Given the description of an element on the screen output the (x, y) to click on. 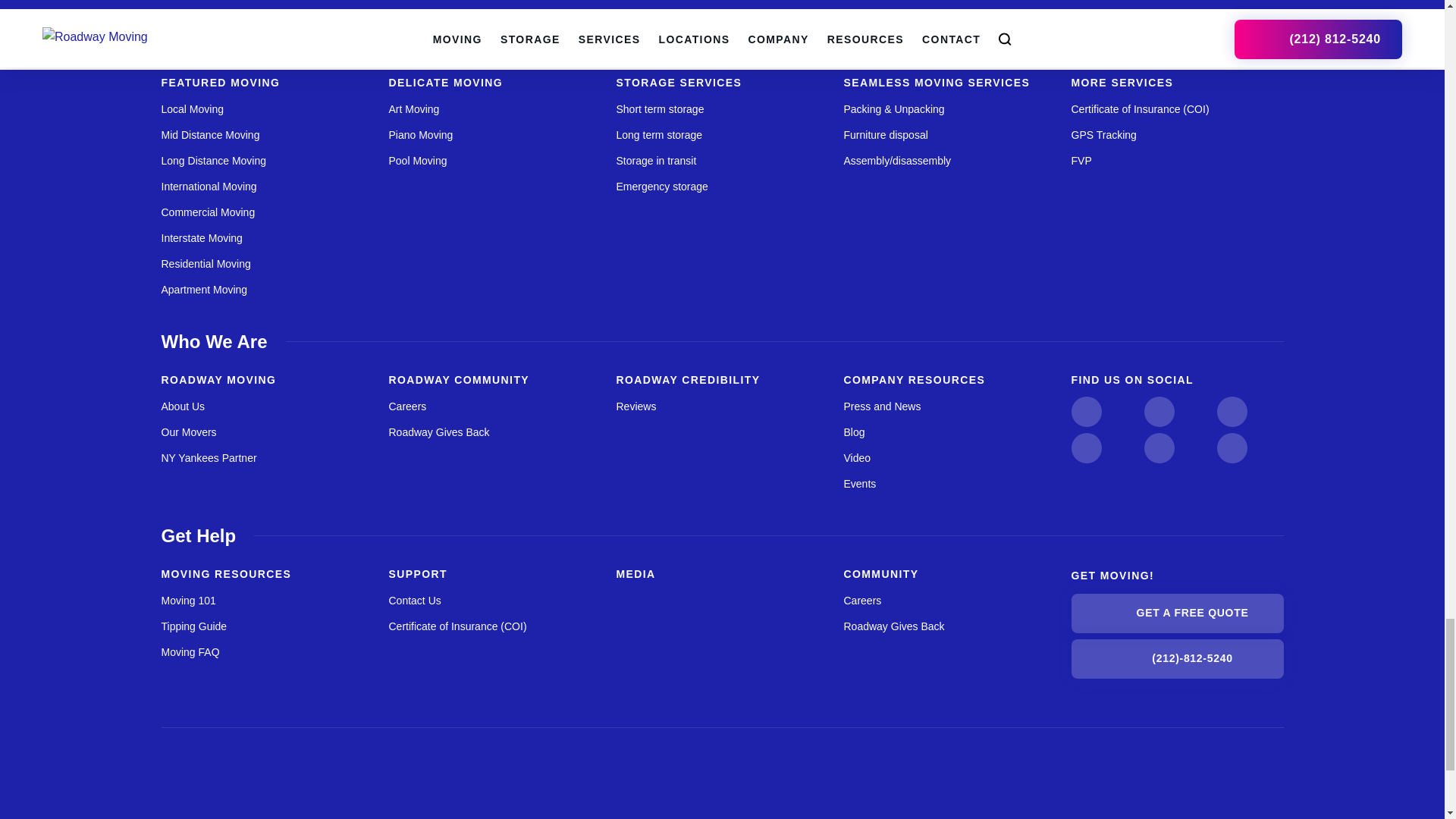
LinkedIn (1230, 411)
Instagram (1085, 411)
X (1085, 448)
Facebook (1157, 448)
YouTube (1157, 411)
Yelp (1230, 448)
